Given the description of an element on the screen output the (x, y) to click on. 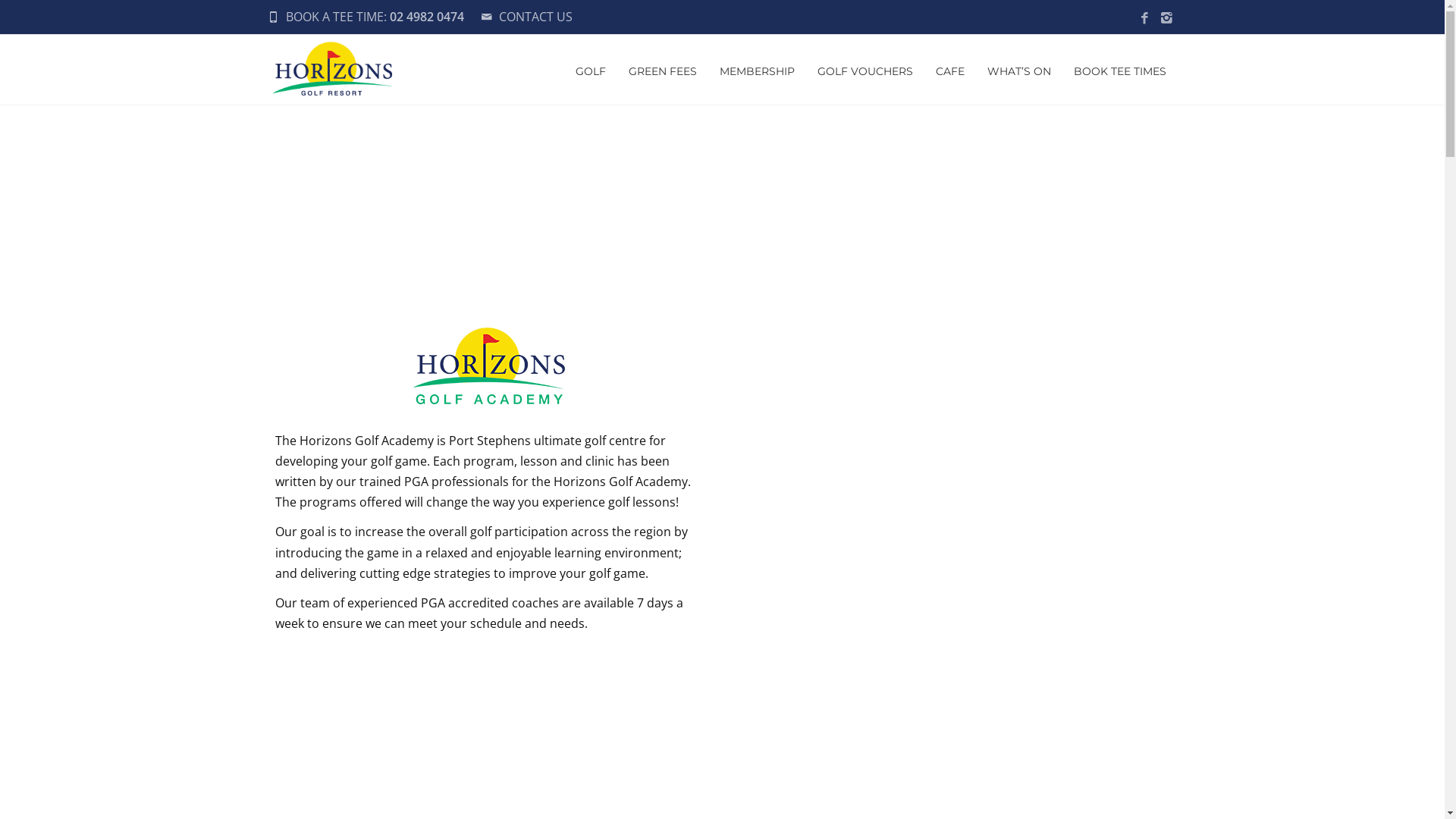
Facebook Element type: hover (1143, 18)
Instagram Element type: hover (1166, 18)
GOLF VOUCHERS Element type: text (864, 69)
CAFE Element type: text (949, 69)
GOLF Element type: text (590, 69)
GREEN FEES Element type: text (662, 69)
CONTACT US Element type: text (535, 16)
BOOK TEE TIMES Element type: text (1118, 69)
MEMBERSHIP Element type: text (757, 69)
